Given the description of an element on the screen output the (x, y) to click on. 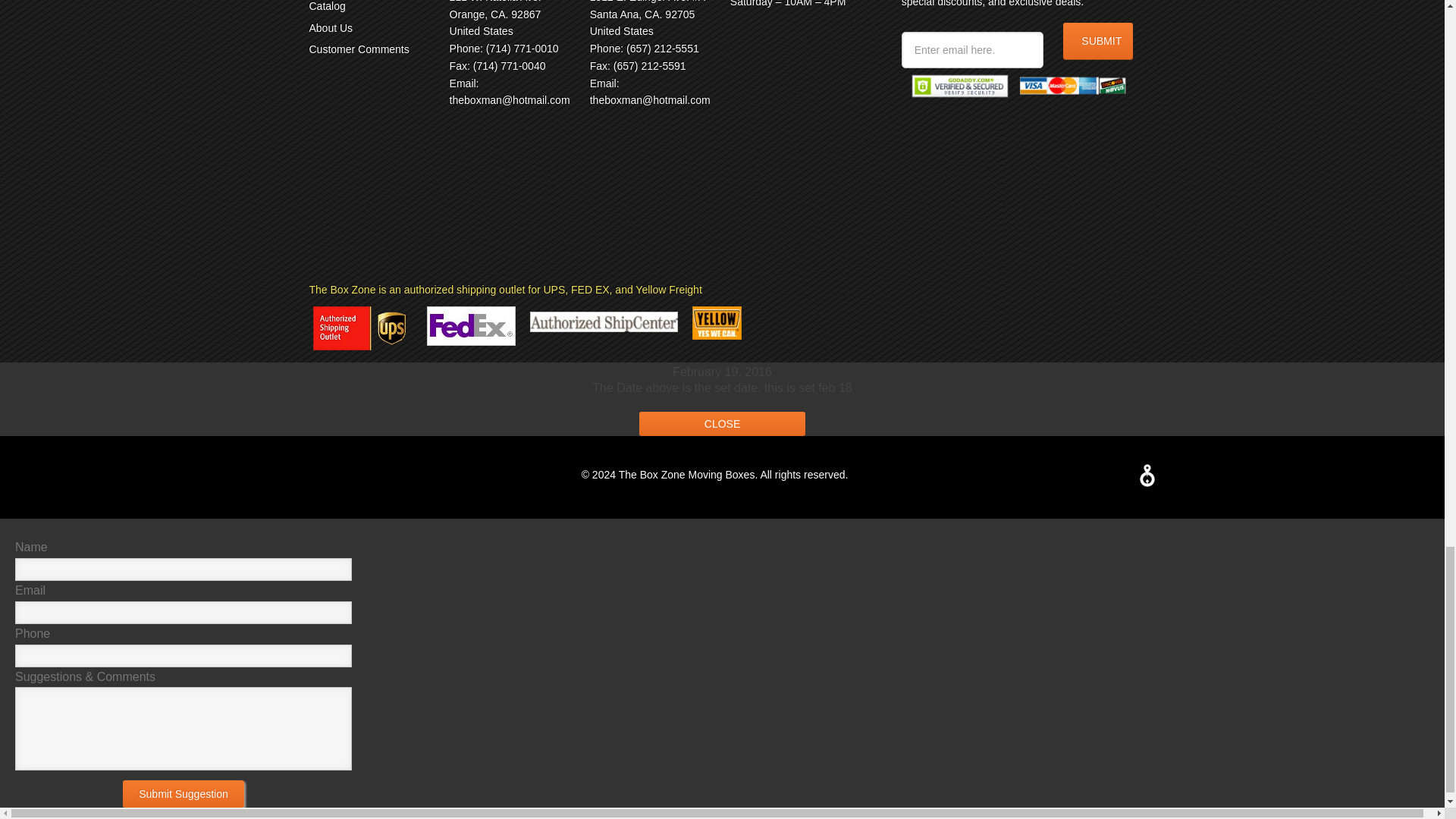
Submit (1097, 40)
Submit Suggestion (183, 793)
